Given the description of an element on the screen output the (x, y) to click on. 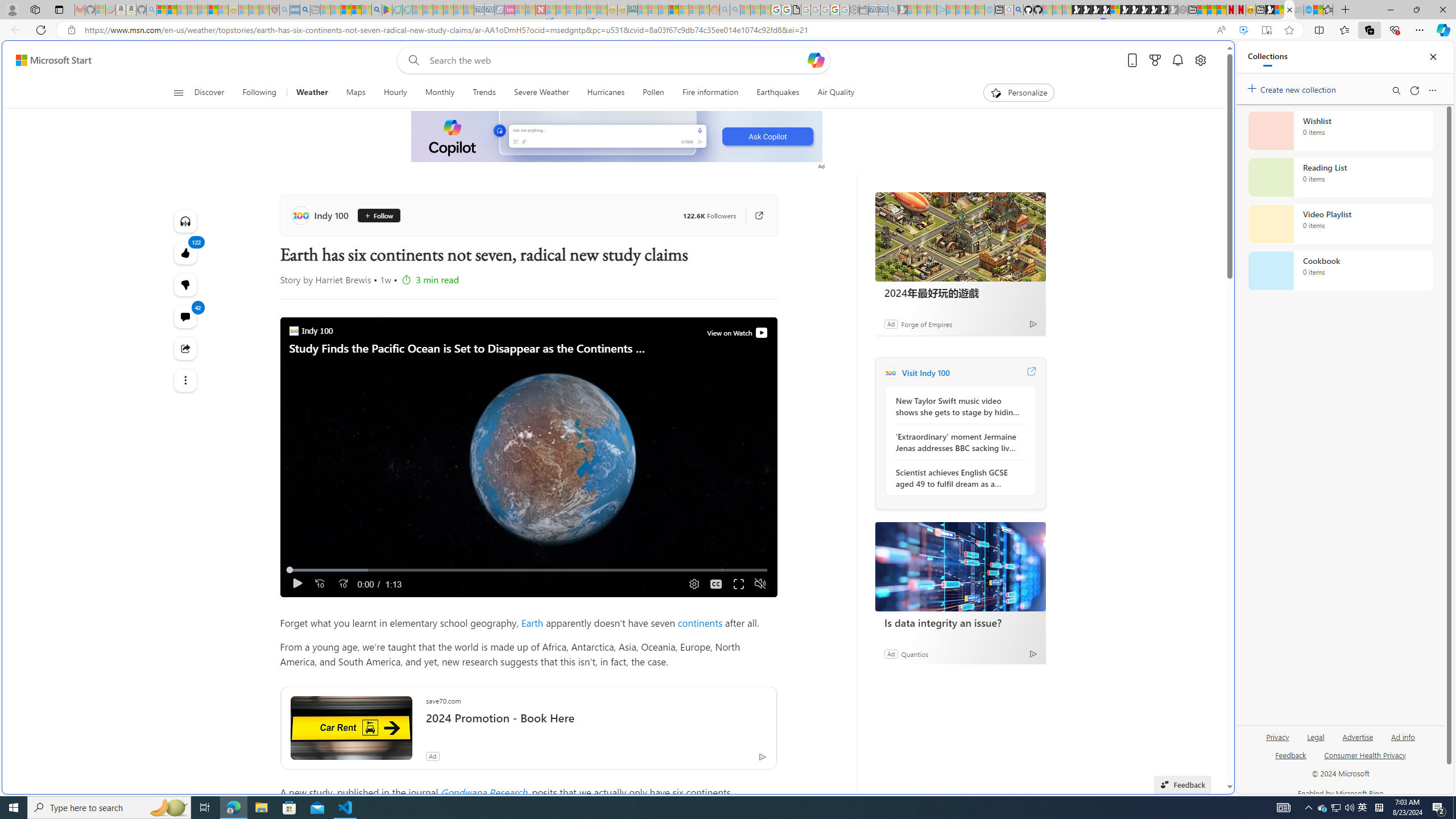
Indy 100 (889, 372)
Forge of Empires (926, 323)
DITOGAMES AG Imprint (632, 9)
google_privacy_policy_zh-CN.pdf (1118, 683)
Fire information (710, 92)
Maps (355, 92)
Home | Sky Blue Bikes - Sky Blue Bikes - Sleeping (988, 9)
